Given the description of an element on the screen output the (x, y) to click on. 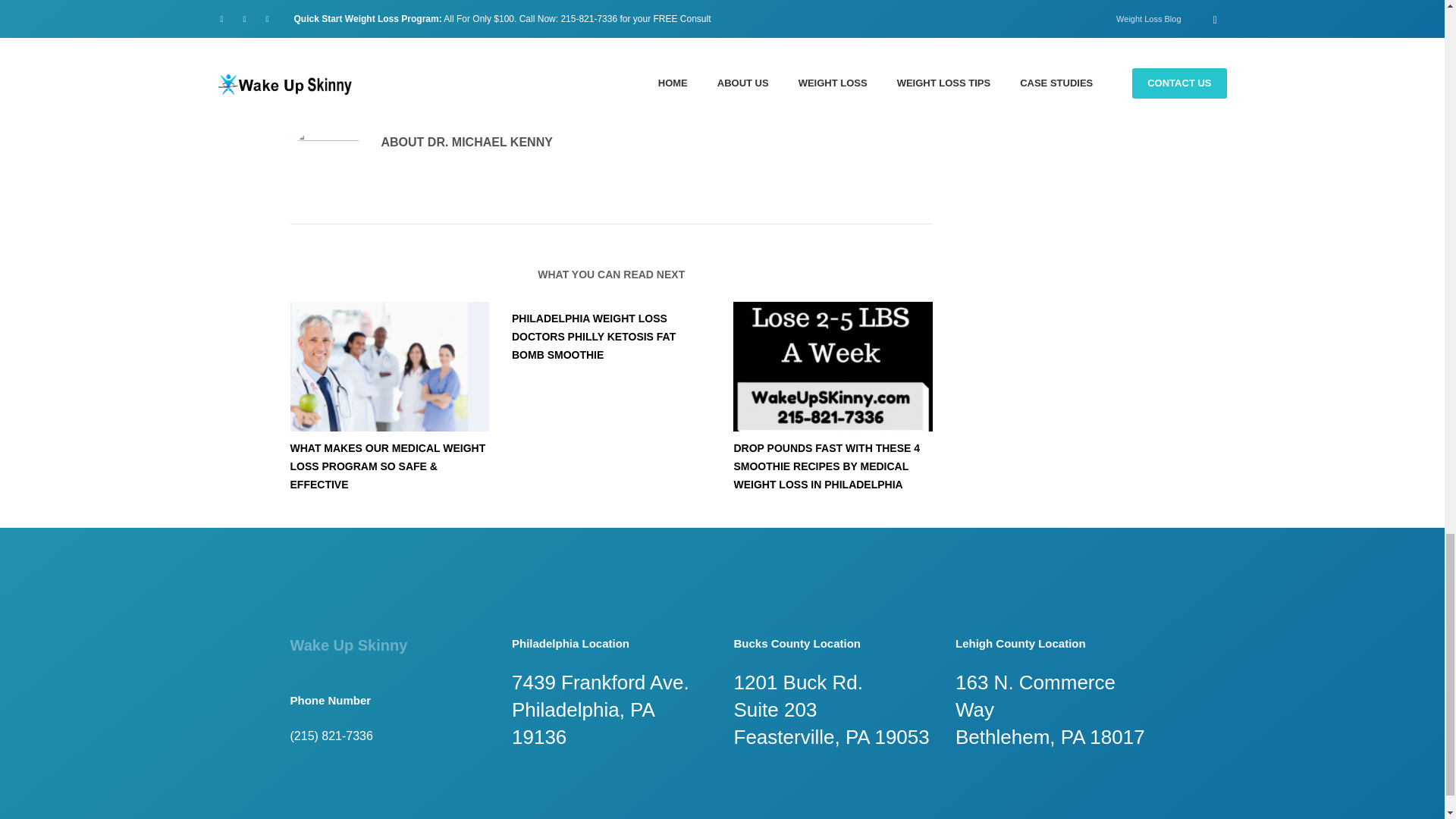
Tweet (303, 34)
medical weight loss diet doctors (388, 366)
Share (380, 38)
WEIGHT LOSS PHILADLEPHIA (557, 73)
MEDICAL WEIGHT LOSS PHILADELPHIA (427, 73)
